Given the description of an element on the screen output the (x, y) to click on. 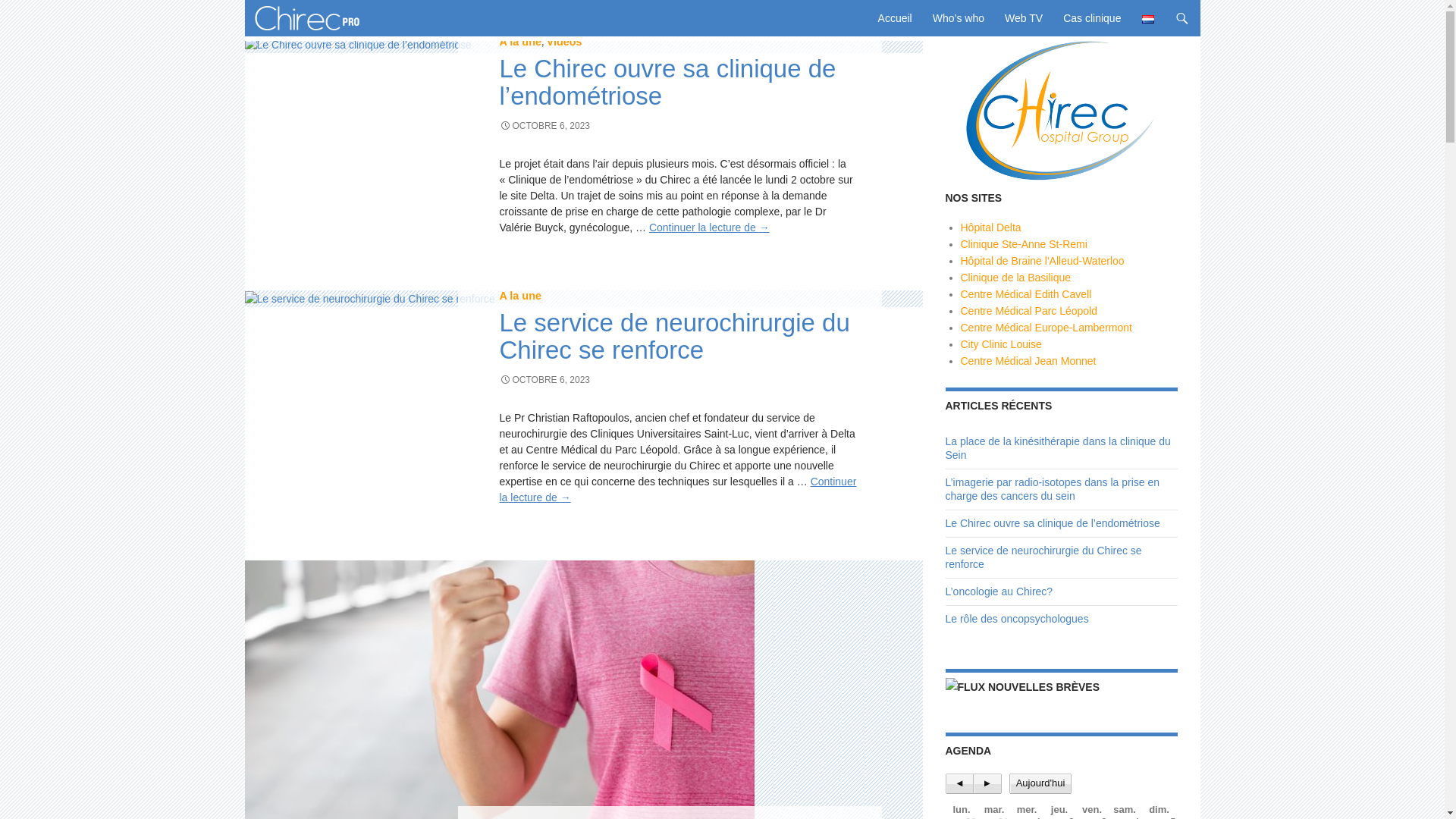
Accueil Element type: text (895, 18)
OCTOBRE 6, 2023 Element type: text (543, 379)
City Clinic Louise Element type: text (1000, 344)
Le service de neurochirurgie du Chirec se renforce Element type: text (1042, 557)
Le service de neurochirurgie du Chirec se renforce Element type: text (673, 336)
Clinique Ste-Anne St-Remi Element type: text (1023, 244)
A la une Element type: text (519, 41)
Cas clinique Element type: text (1091, 18)
OCTOBRE 6, 2023 Element type: text (543, 125)
Clinique de la Basilique Element type: text (1015, 277)
Web TV Element type: text (1023, 18)
A la une Element type: text (519, 295)
